Given the description of an element on the screen output the (x, y) to click on. 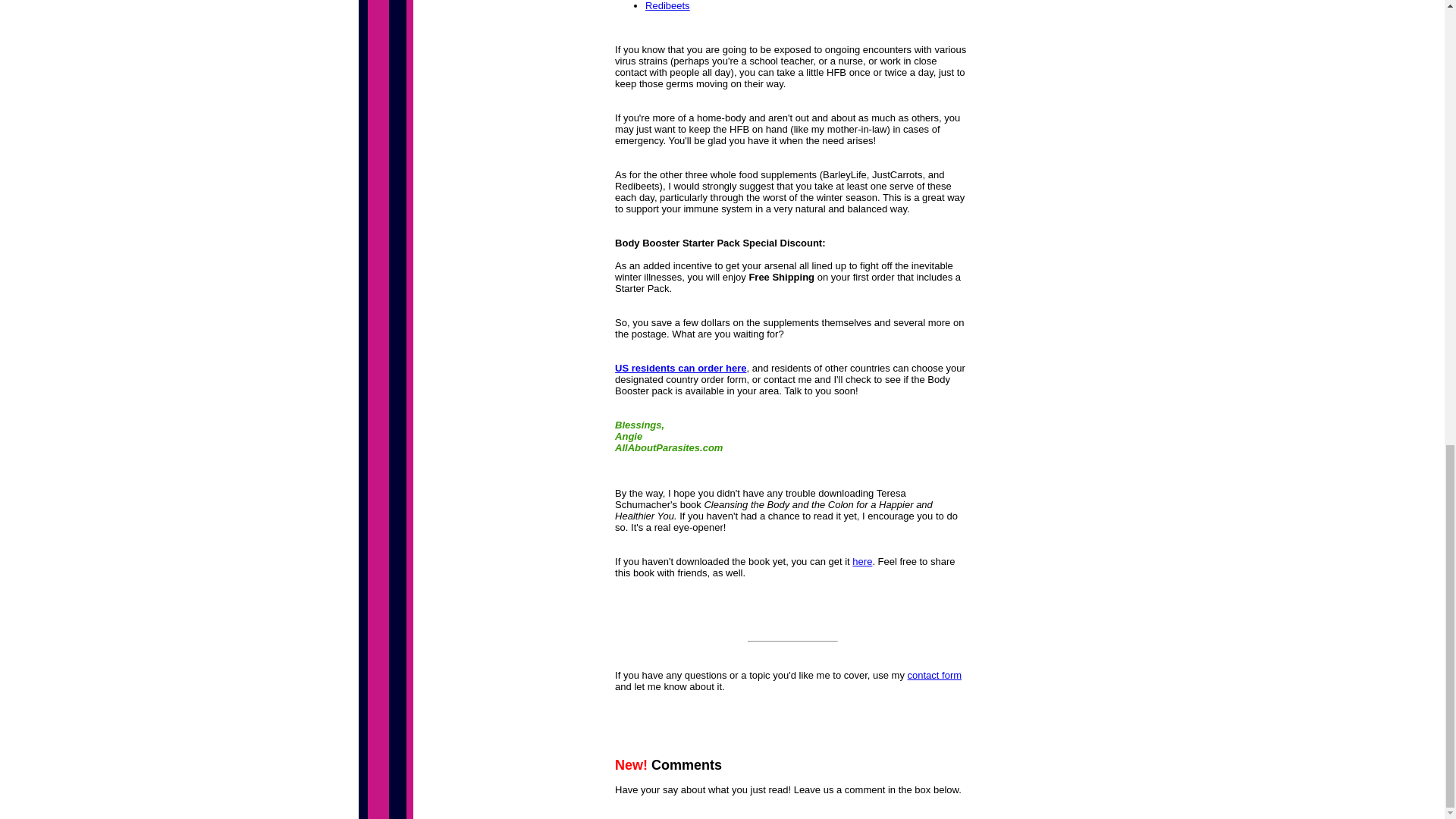
Redibeets (667, 5)
here (861, 561)
US residents can order here (679, 367)
contact form (934, 674)
